Given the description of an element on the screen output the (x, y) to click on. 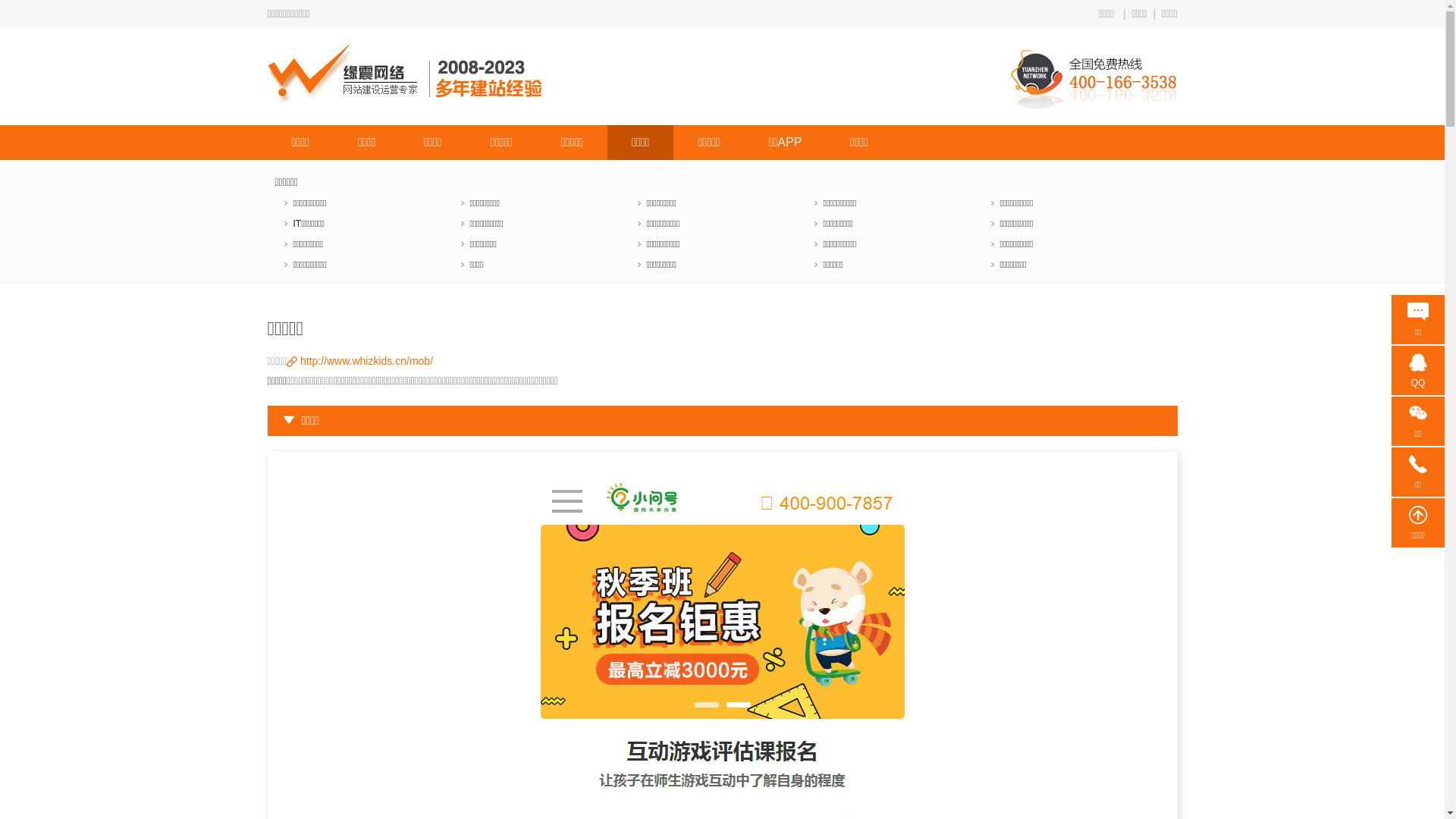
http://www.whizkids.cn/mob/ Element type: text (366, 360)
QQ Element type: text (1417, 372)
